Given the description of an element on the screen output the (x, y) to click on. 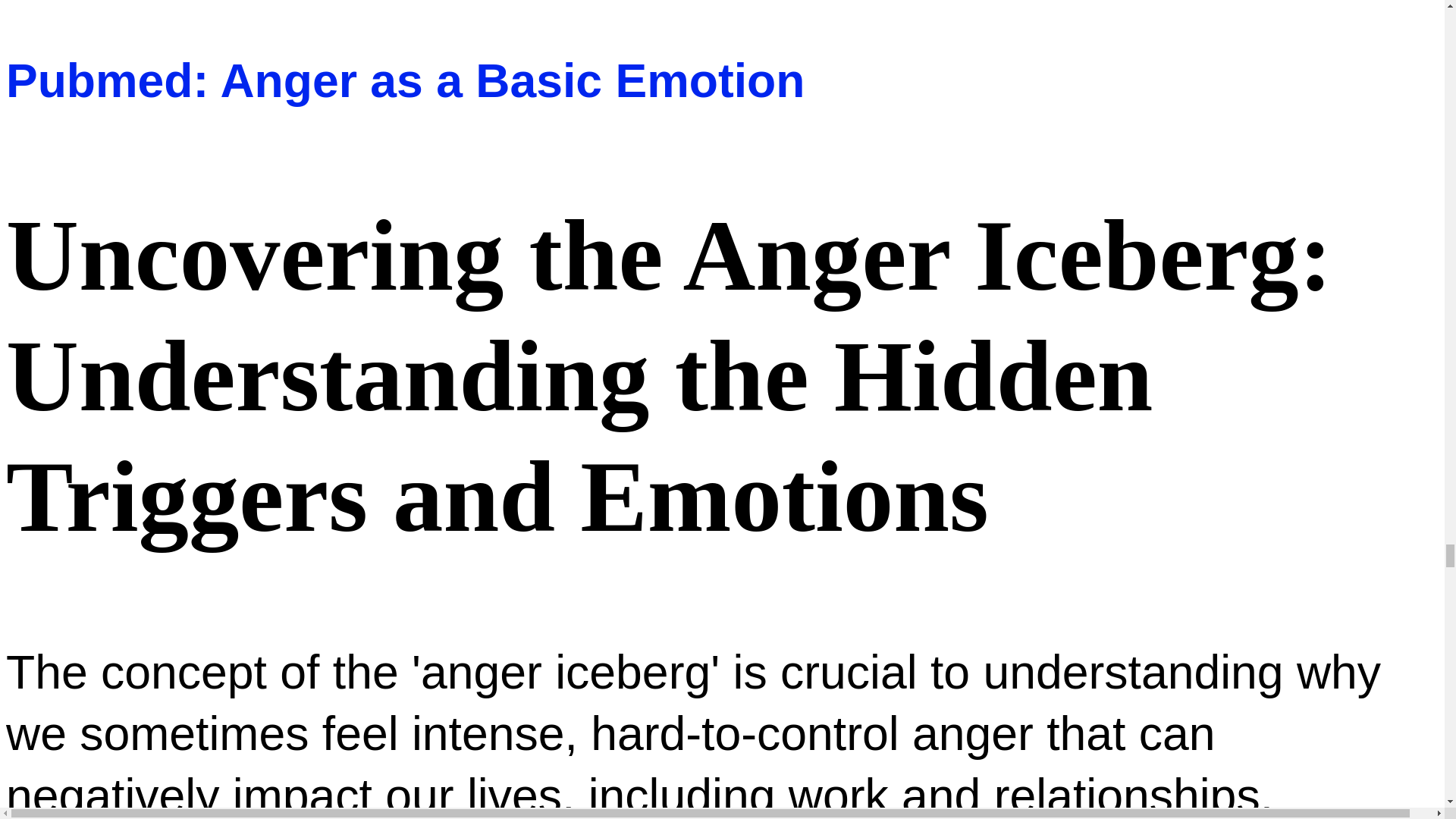
Pubmed: Anger as a Basic Emotion (405, 80)
